Given the description of an element on the screen output the (x, y) to click on. 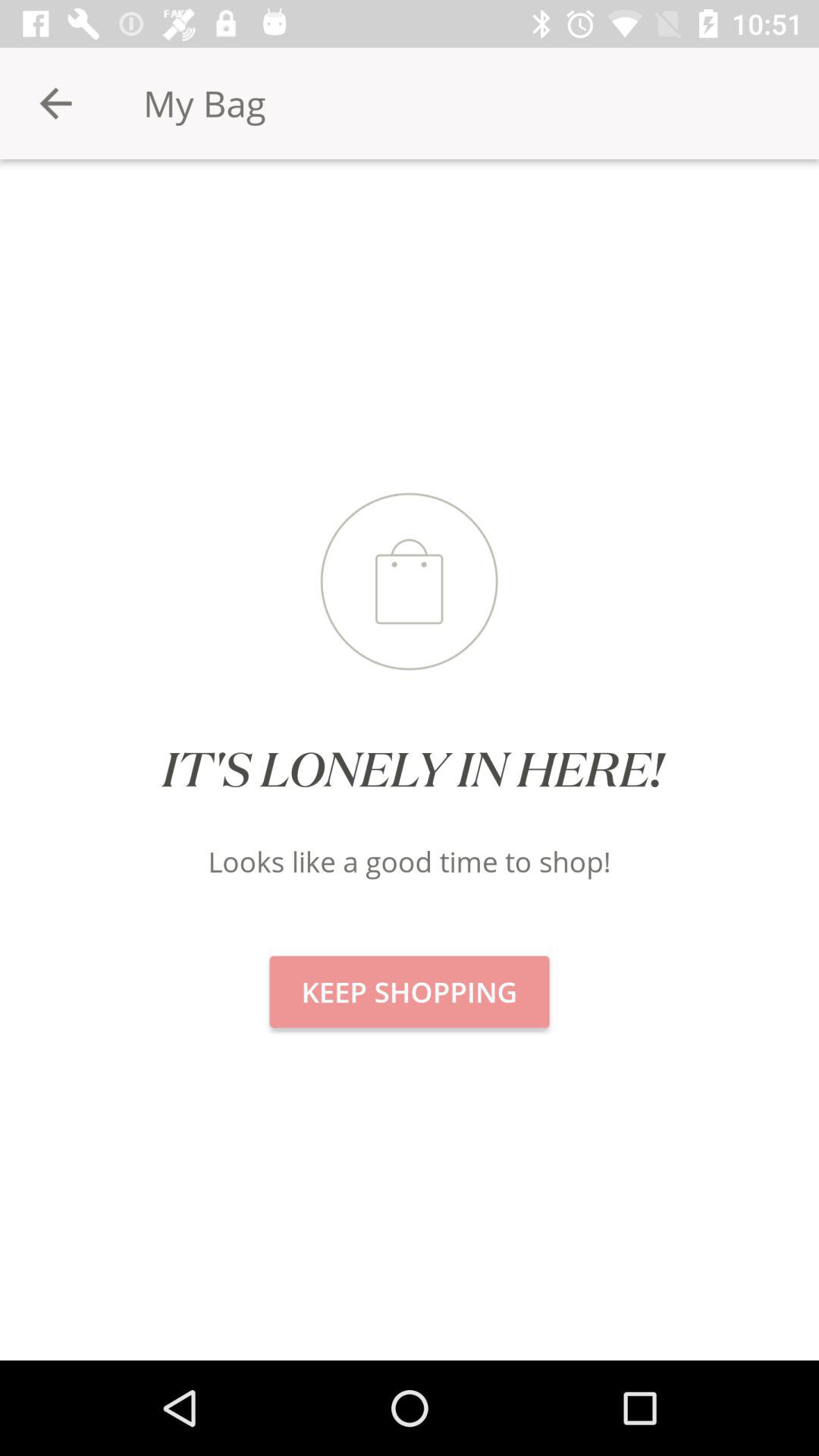
turn off the item next to my bag icon (55, 103)
